Given the description of an element on the screen output the (x, y) to click on. 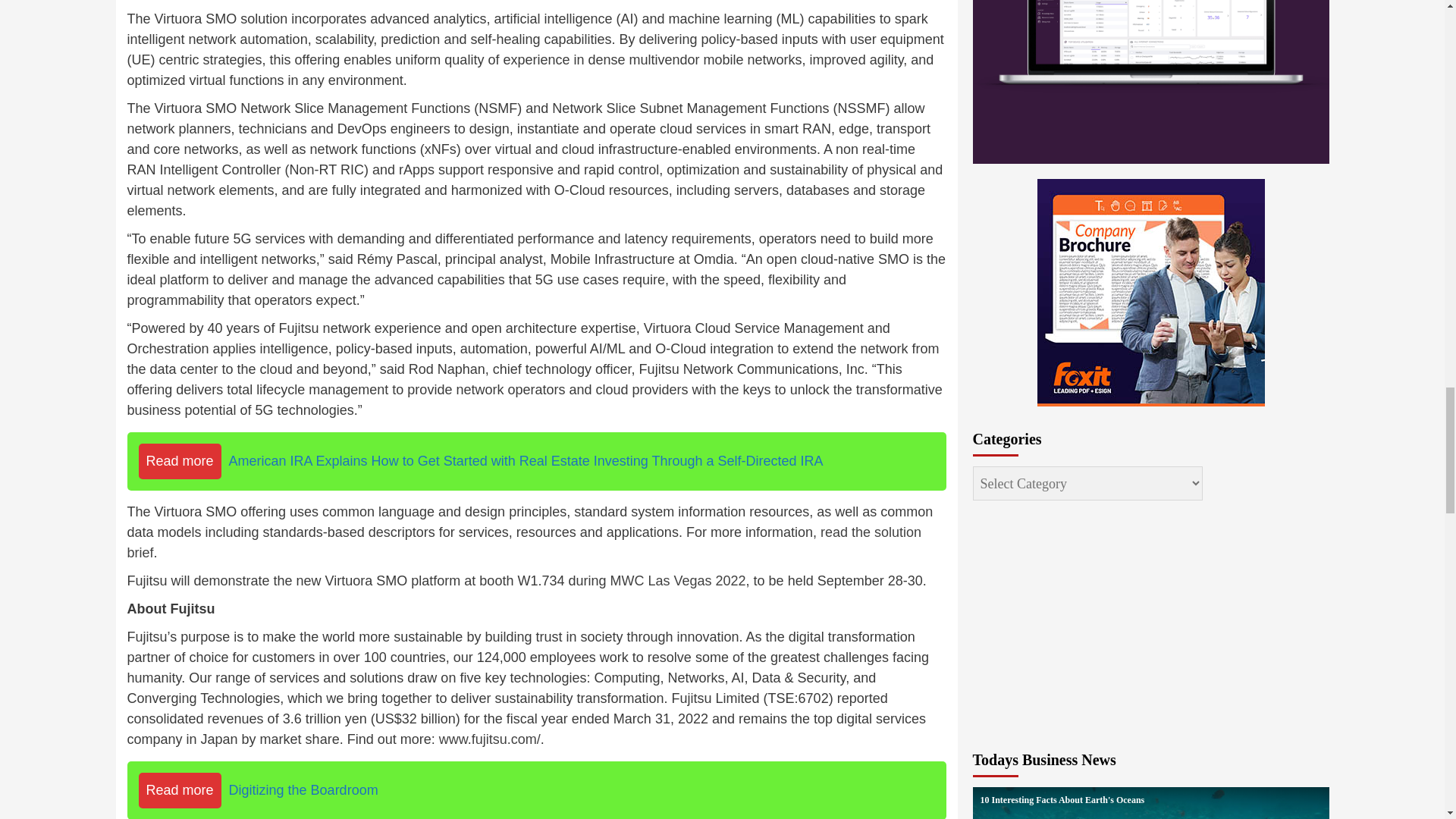
read the solution brief (524, 542)
Read moreDigitizing the Boardroom (537, 790)
MWC Las Vegas 2022 (677, 580)
